Given the description of an element on the screen output the (x, y) to click on. 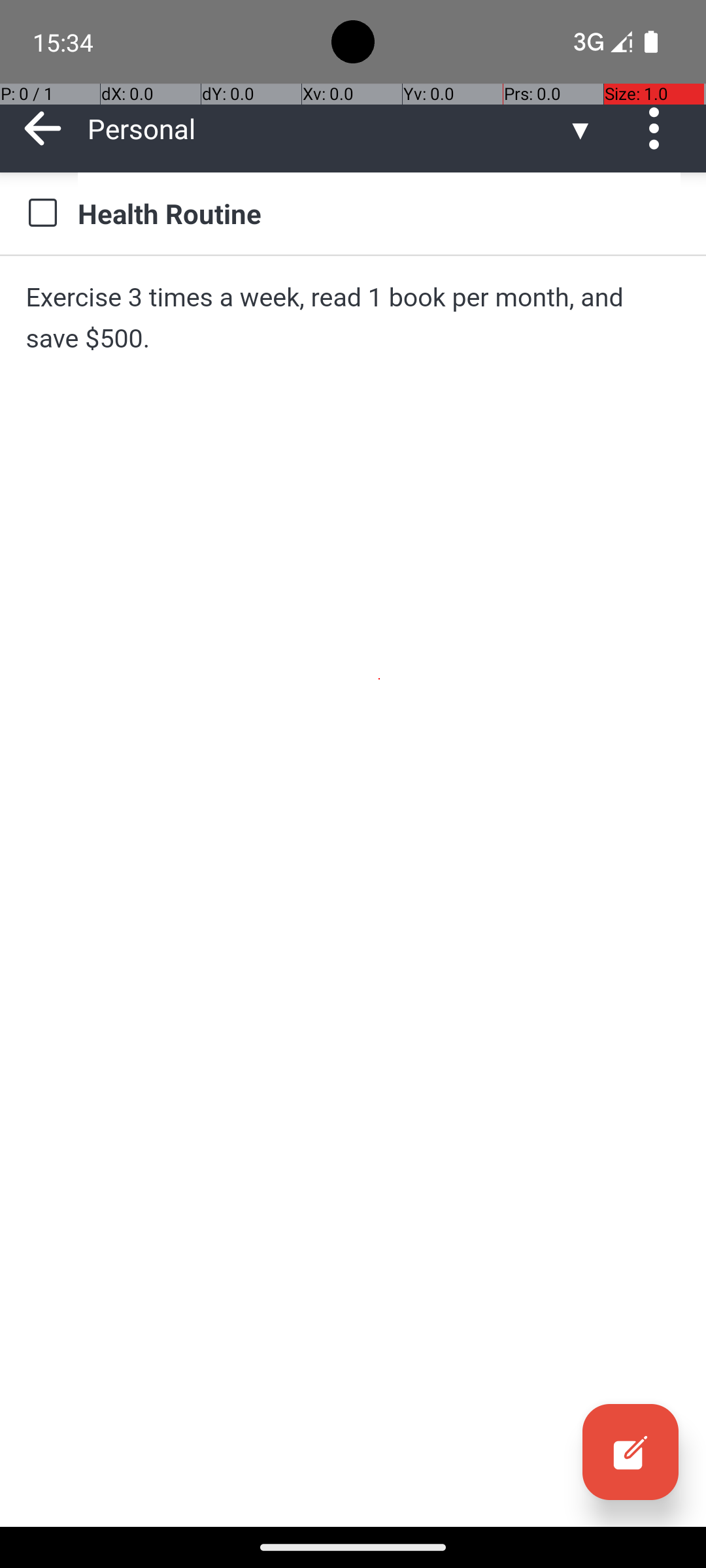
Health Routine Element type: android.widget.EditText (378, 213)
Personal Element type: android.widget.TextView (326, 128)
Exercise 3 times a week, read 1 book per month, and save $500. Element type: android.widget.TextView (352, 317)
